Given the description of an element on the screen output the (x, y) to click on. 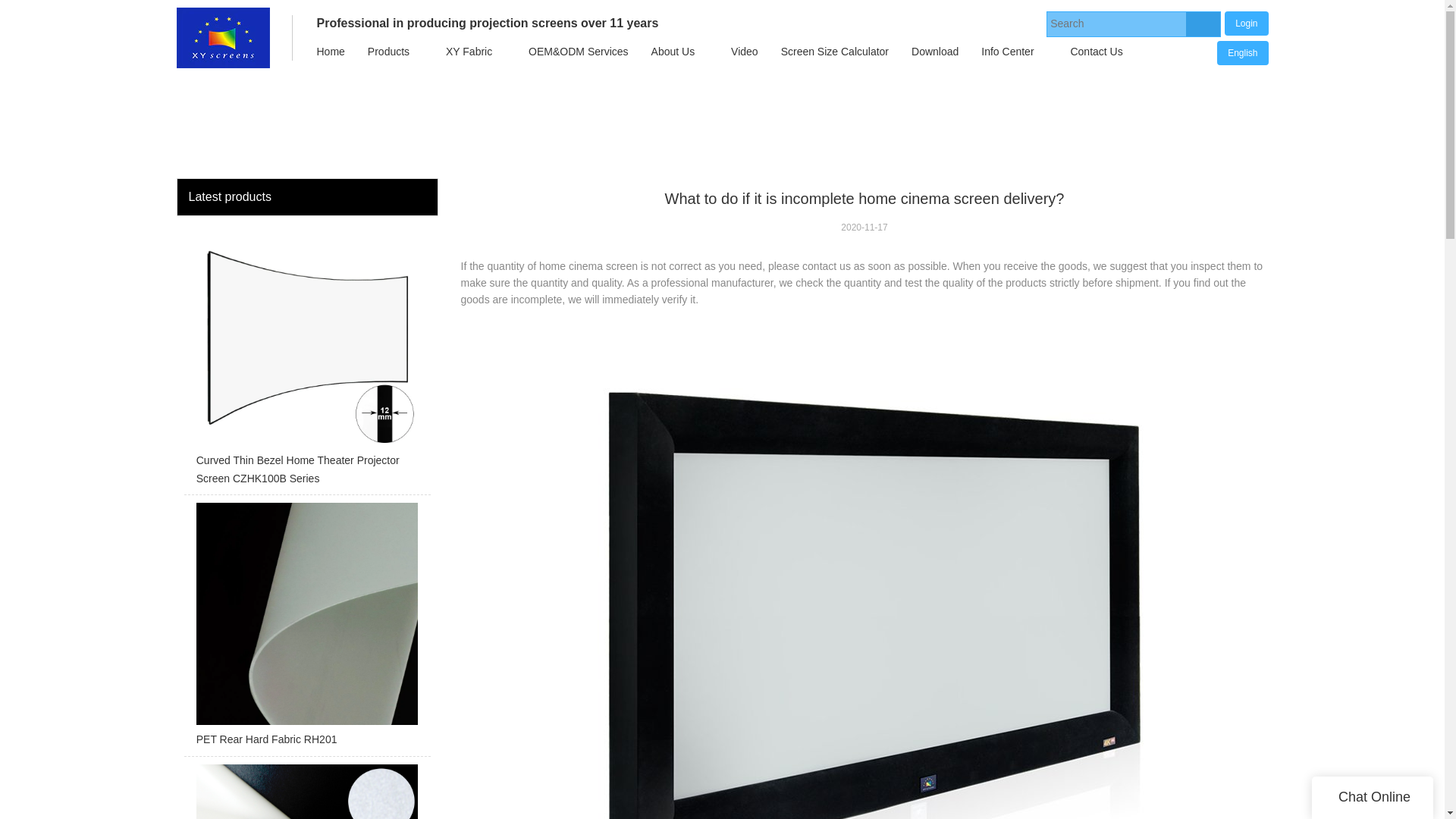
Products (388, 51)
About Us (673, 51)
Home (329, 51)
Video (744, 51)
Login (1245, 23)
Screen Size Calculator (834, 51)
XY Fabric (468, 51)
